Given the description of an element on the screen output the (x, y) to click on. 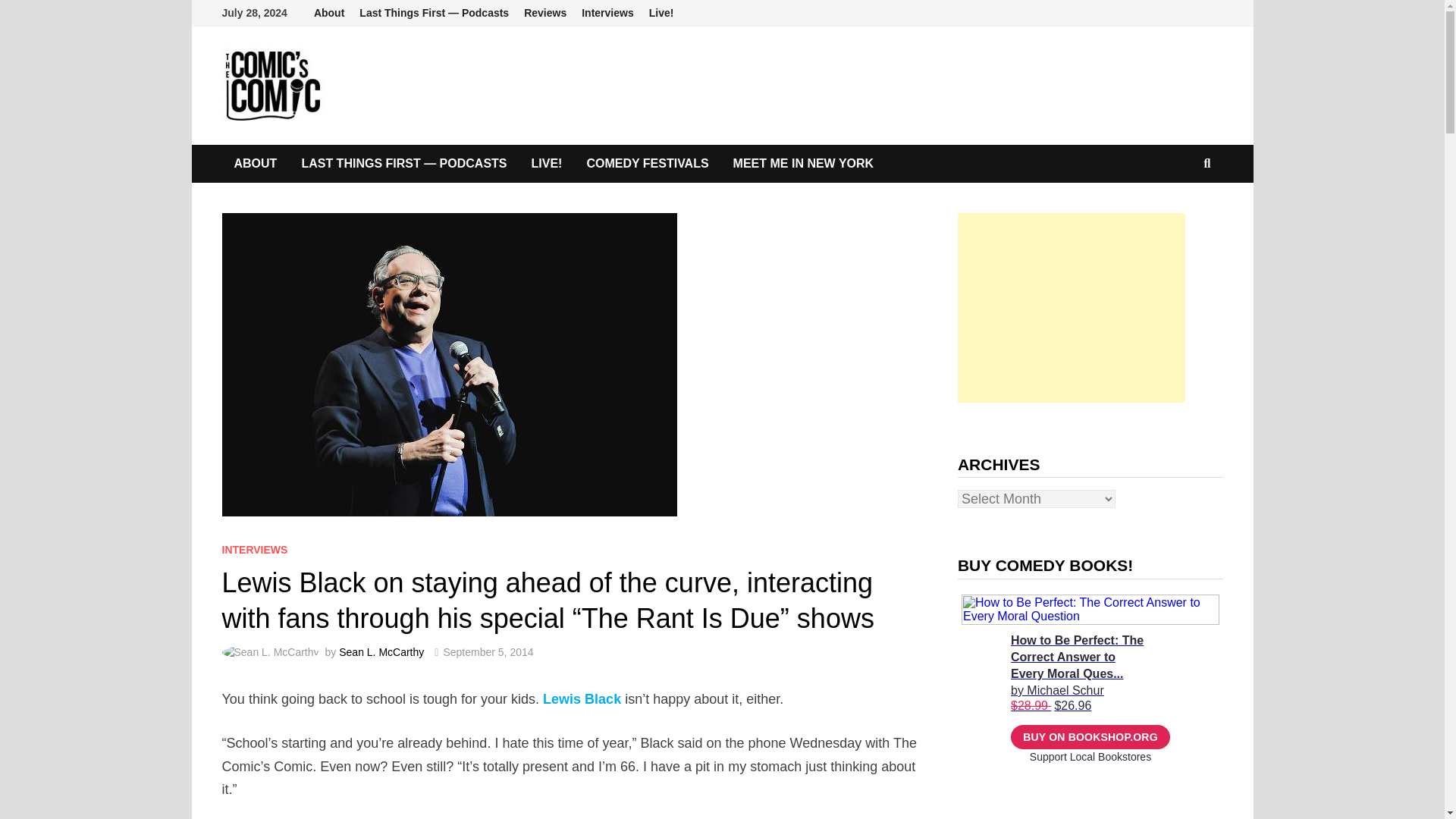
Interviews (606, 13)
INTERVIEWS (253, 549)
Live! (661, 13)
Lewis Black (582, 698)
Sean L. McCarthy (381, 652)
September 5, 2014 (487, 652)
COMEDY FESTIVALS (646, 163)
Advertisement (1071, 307)
LIVE! (547, 163)
ABOUT (254, 163)
MEET ME IN NEW YORK (803, 163)
About (328, 13)
Reviews (544, 13)
